Given the description of an element on the screen output the (x, y) to click on. 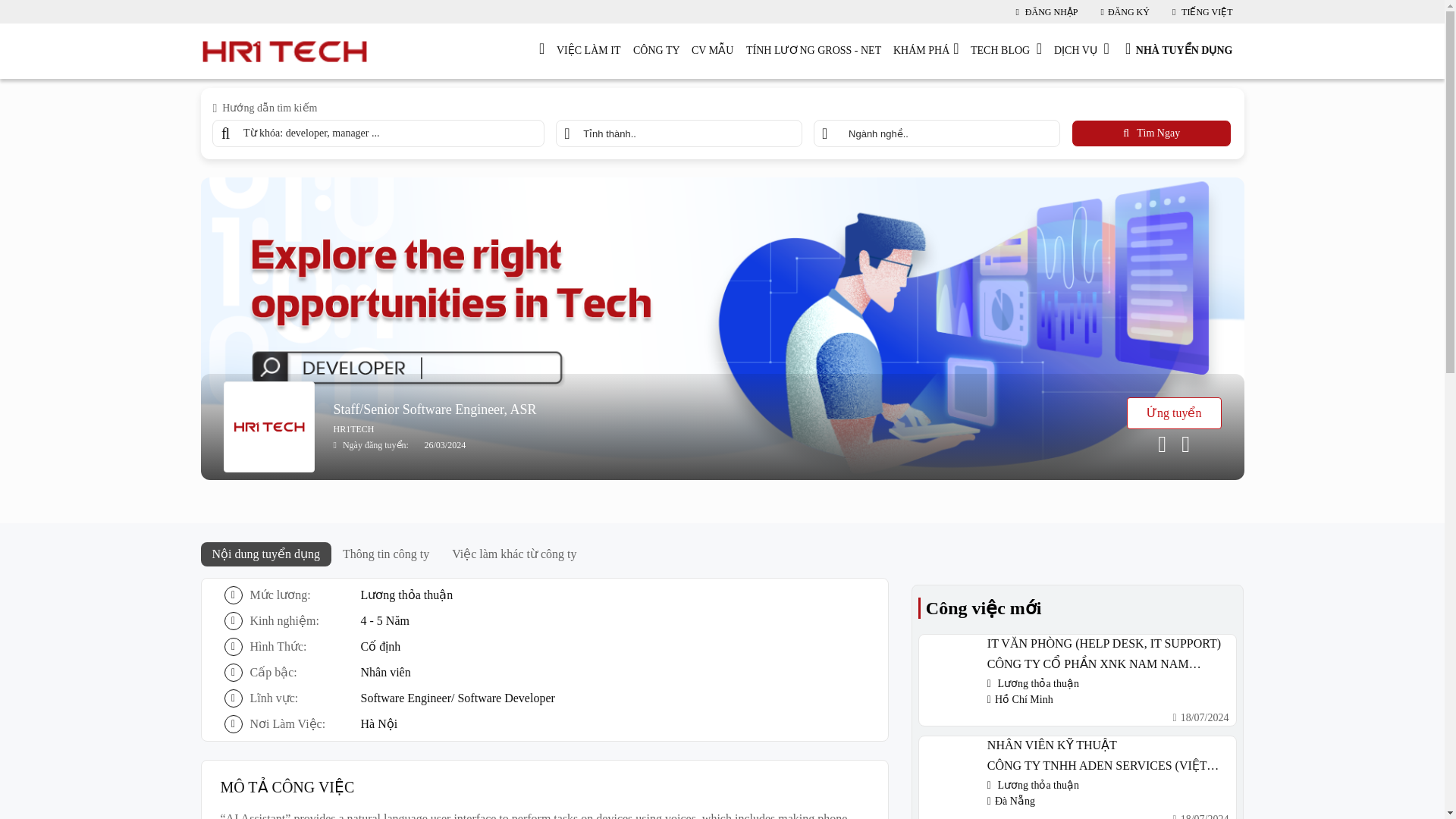
TECH BLOG (1005, 50)
HR1TECH (777, 428)
